Given the description of an element on the screen output the (x, y) to click on. 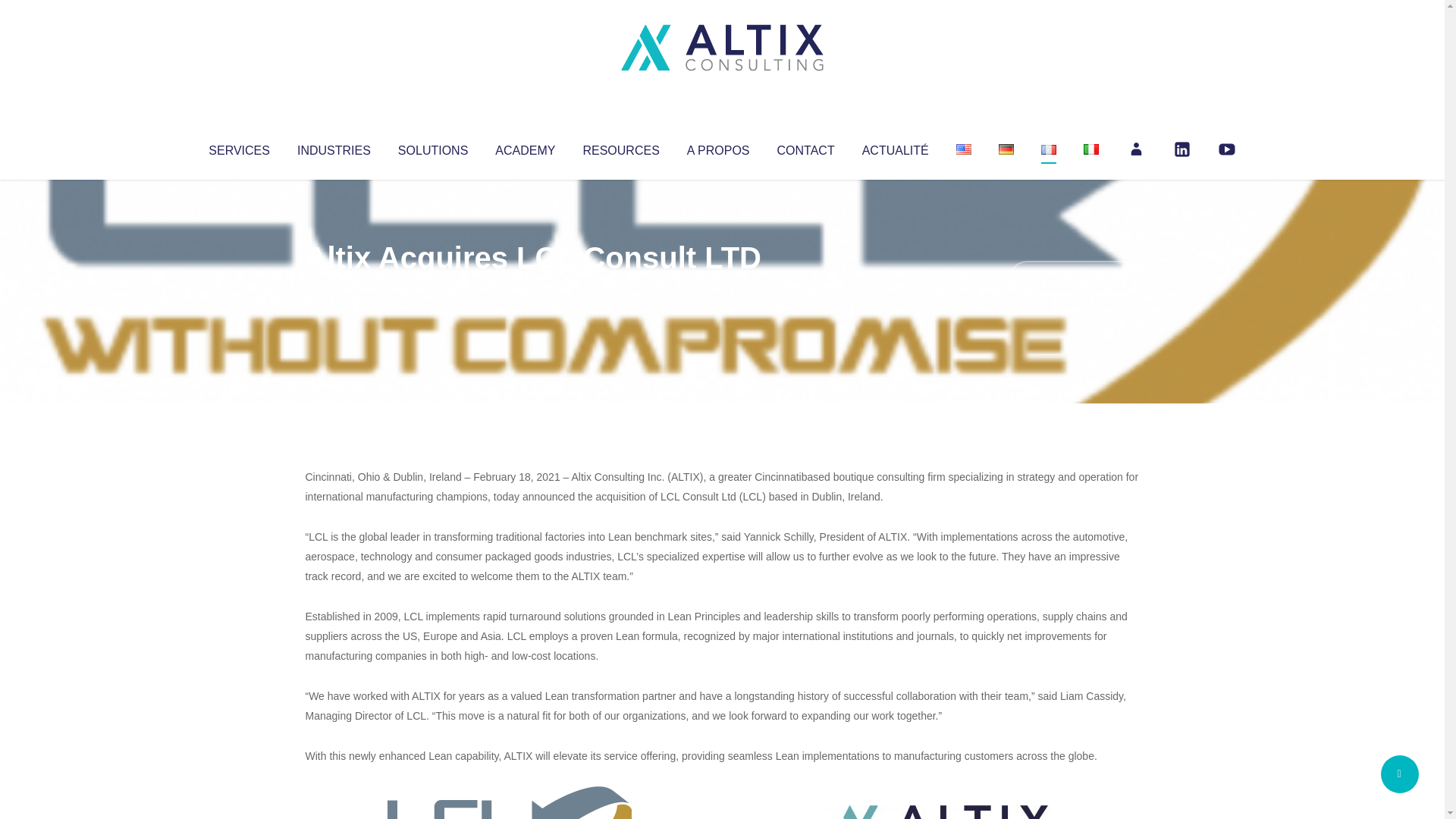
INDUSTRIES (334, 146)
Uncategorized (530, 287)
SERVICES (238, 146)
No Comments (1073, 278)
RESOURCES (620, 146)
A PROPOS (718, 146)
ACADEMY (524, 146)
Altix (333, 287)
Articles par Altix (333, 287)
SOLUTIONS (432, 146)
